Given the description of an element on the screen output the (x, y) to click on. 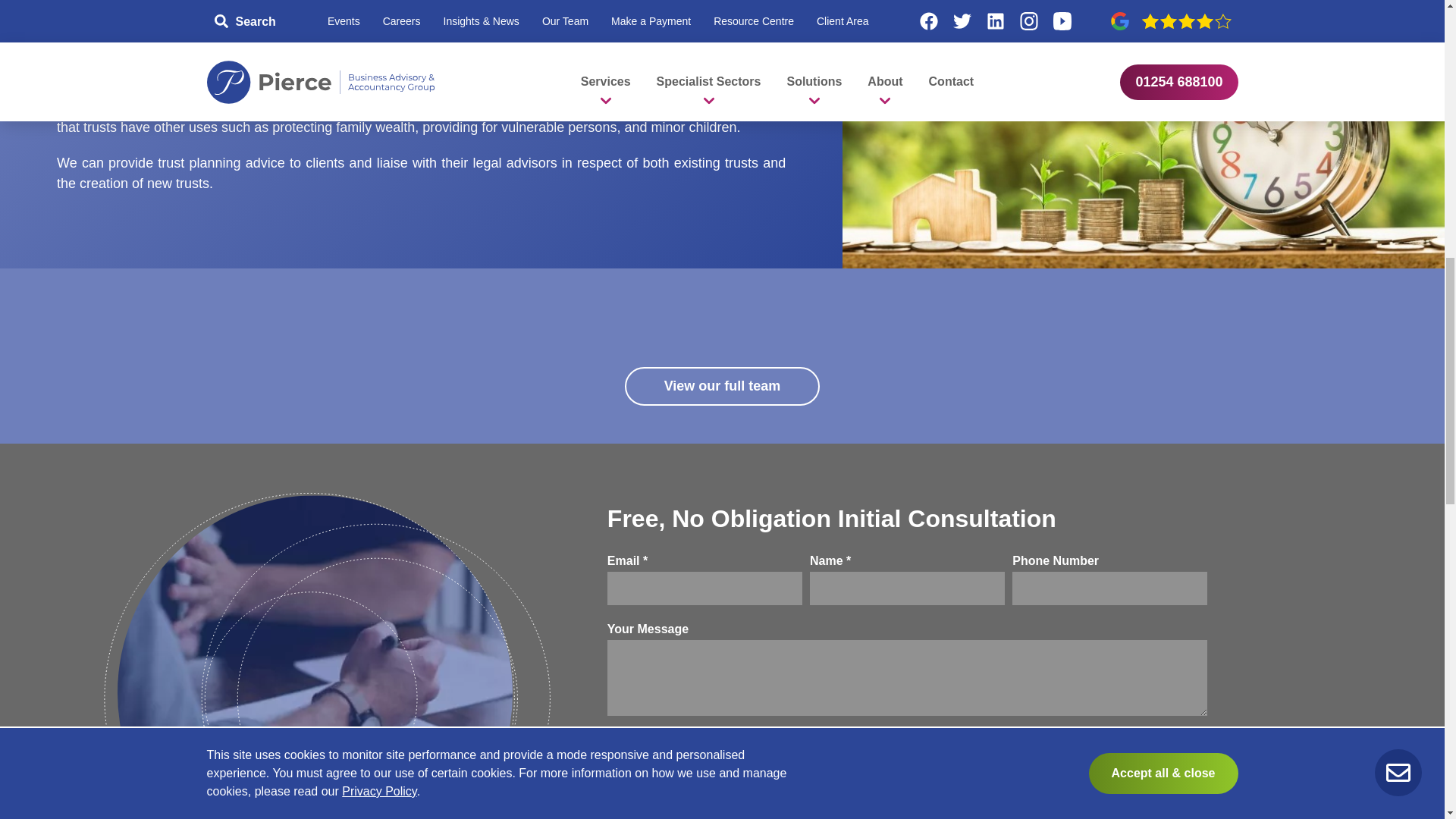
1 (616, 745)
